Given the description of an element on the screen output the (x, y) to click on. 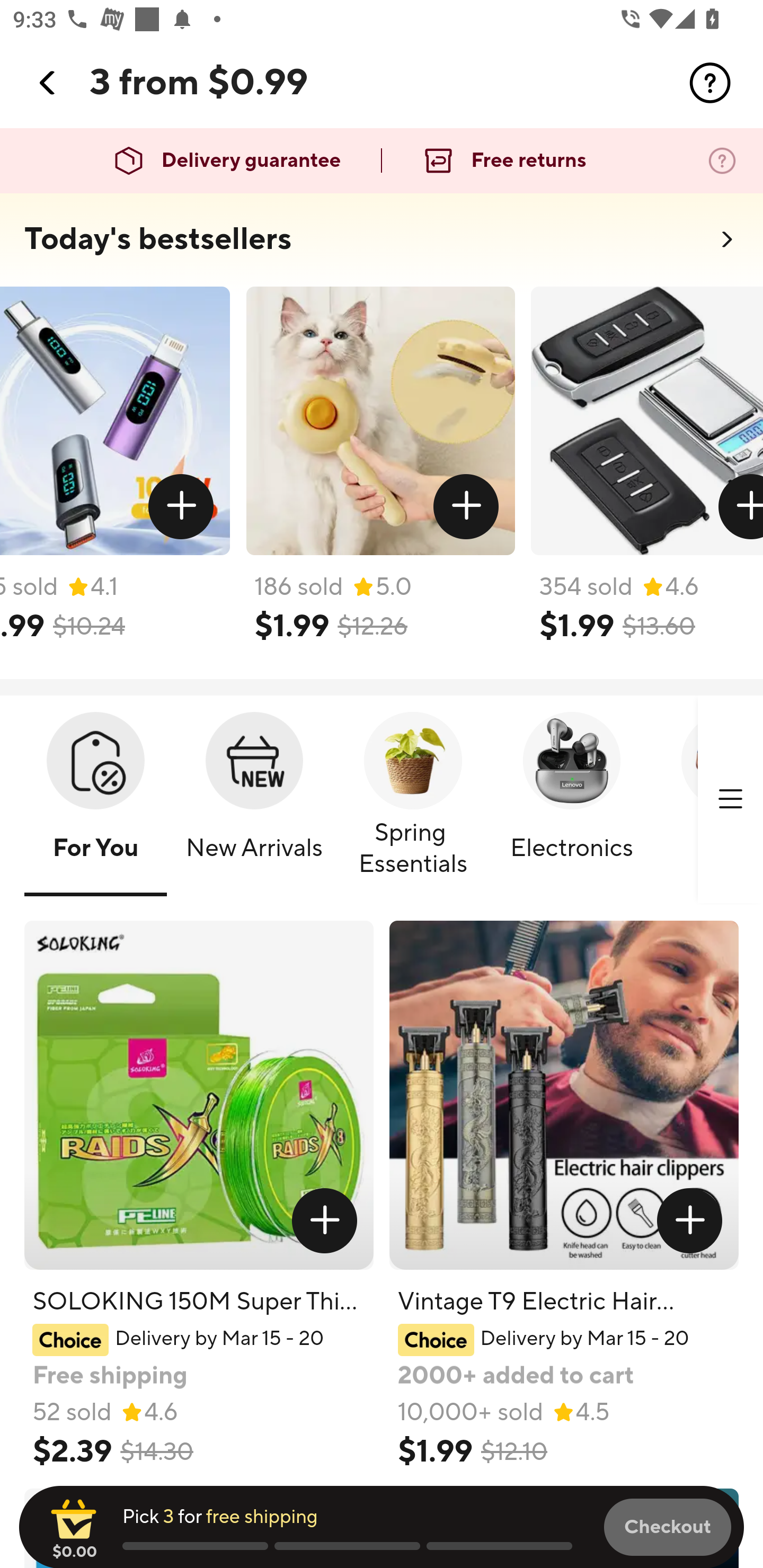
 (710, 82)
 (48, 82)
Today's bestsellers  Today's bestsellers  (381, 244)
Today's bestsellers (157, 239)
 (181, 506)
 (465, 506)
 (740, 506)
 (730, 799)
144x144.png_ For You (95, 800)
144x144.png_ New Arrivals (254, 800)
200x200.png_ Spring Essentials (412, 800)
300x300.png_ Electronics (571, 800)
 (323, 1220)
 (689, 1220)
